Given the description of an element on the screen output the (x, y) to click on. 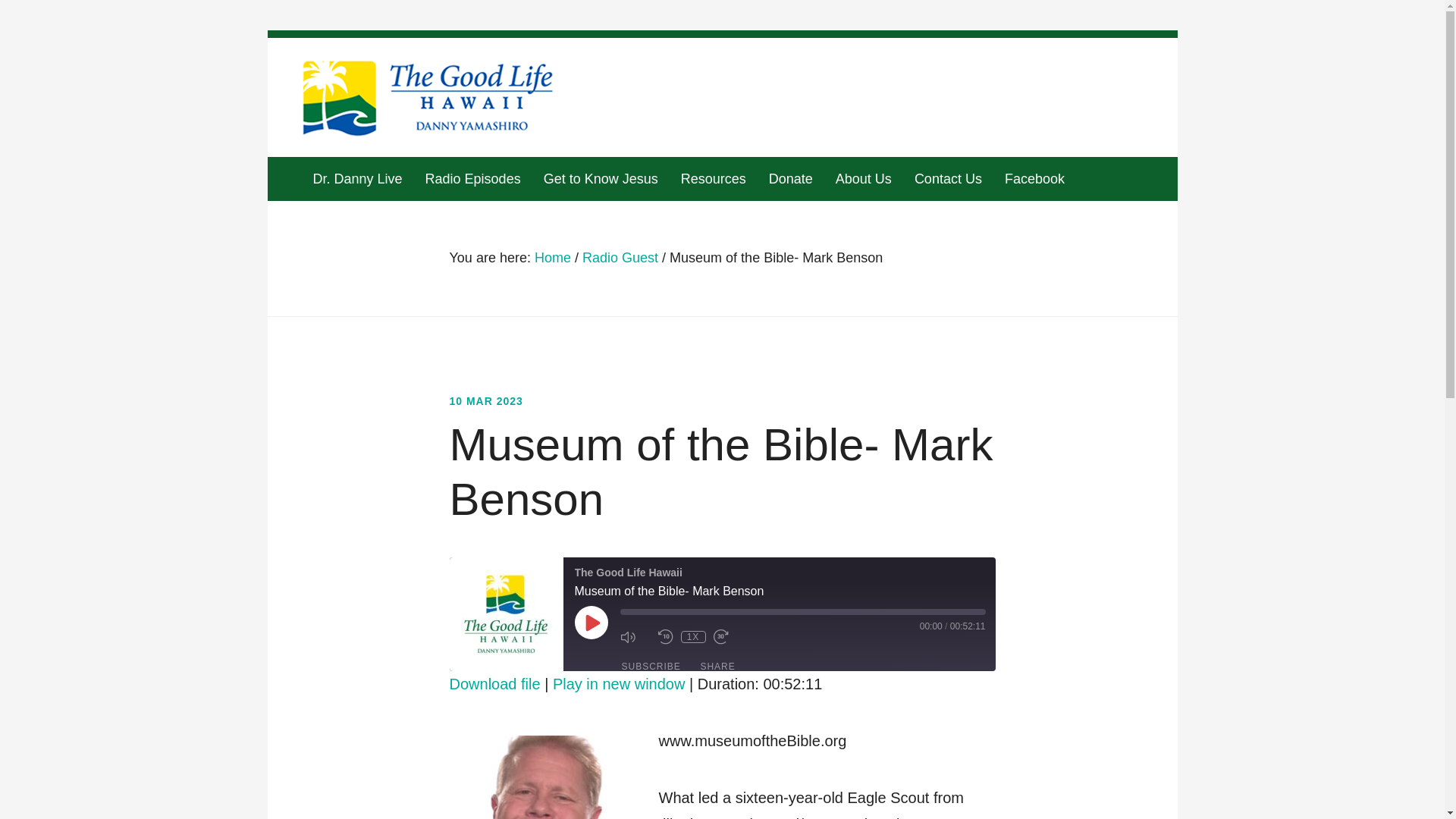
PLAY EPISODE (591, 622)
FAST FORWARD 30 SECONDS (727, 636)
Fast Forward 30 seconds (727, 636)
The Good Life Hawaii (505, 613)
About Us (863, 178)
Dr. Danny Live (363, 178)
Get to Know Jesus (600, 178)
SHARE (717, 666)
THE GOOD LIFE HAWAII (428, 99)
Play in new window (619, 683)
